Given the description of an element on the screen output the (x, y) to click on. 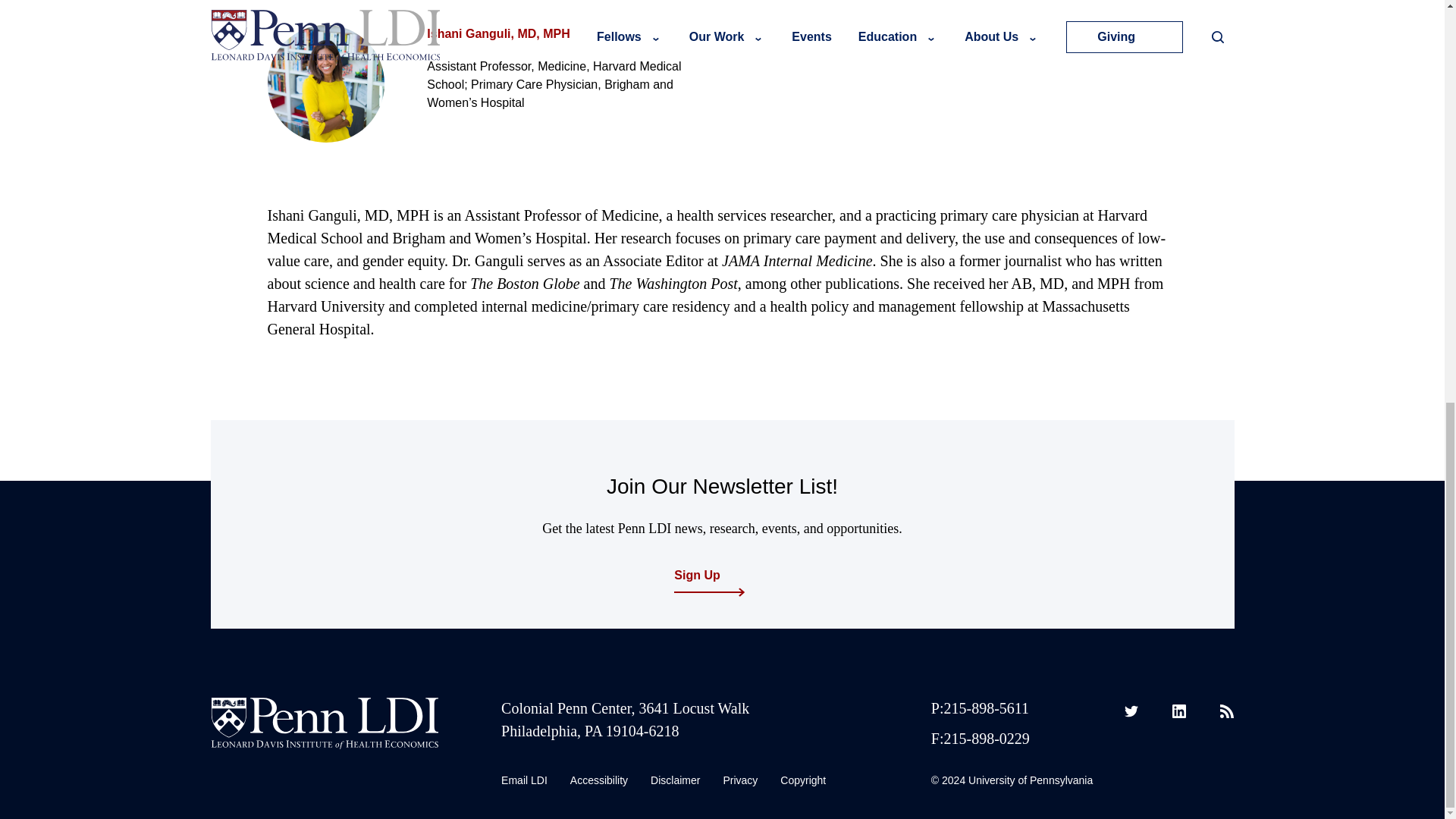
Penn LDI (324, 722)
Disclaimer (675, 780)
Accessibility (598, 780)
Penn LDI (324, 743)
Sign Up (715, 575)
linkedin (1179, 711)
Email LDI (523, 780)
Ishani Ganguli, MD, MPH (497, 33)
rss (1226, 711)
twitter (1131, 711)
